Given the description of an element on the screen output the (x, y) to click on. 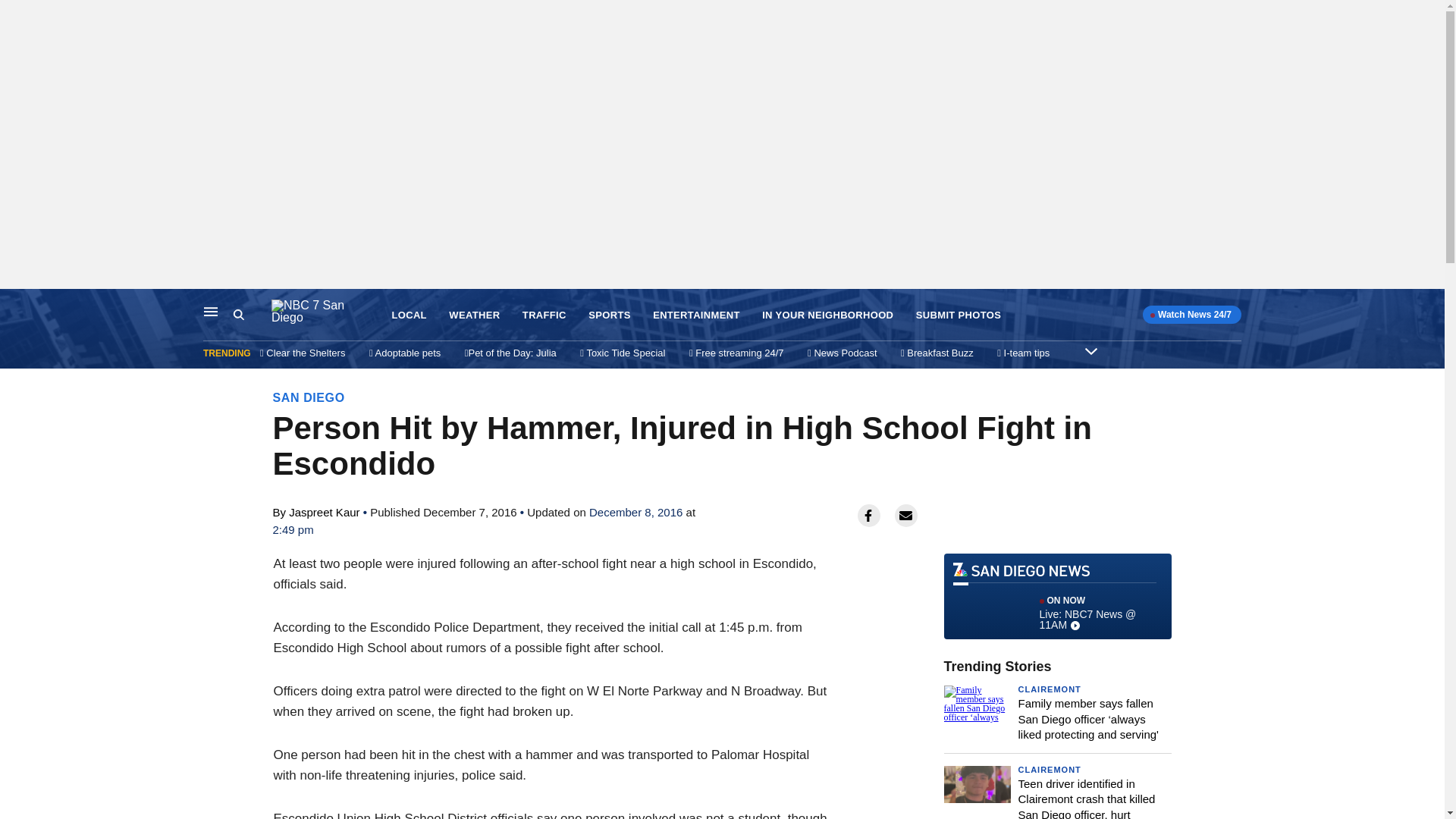
Search (252, 314)
SAN DIEGO (309, 397)
CLAIREMONT (1048, 688)
Expand (1090, 350)
ENTERTAINMENT (695, 315)
IN YOUR NEIGHBORHOOD (827, 315)
WEATHER (473, 315)
LOCAL (408, 315)
Search (238, 314)
Skip to content (16, 304)
